Given the description of an element on the screen output the (x, y) to click on. 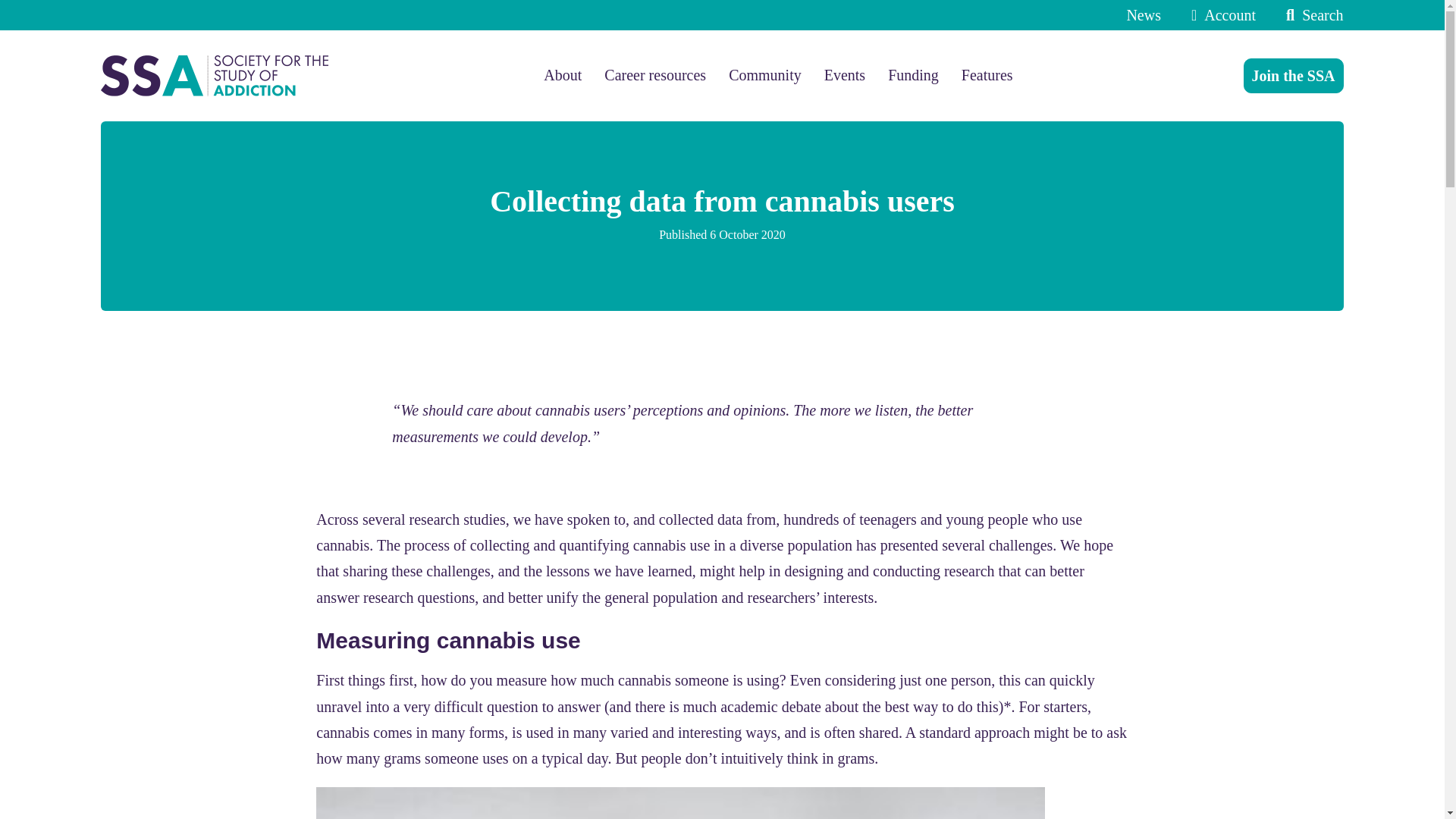
Account (1219, 14)
Search (1310, 14)
Career resources (655, 75)
Join the SSA (1293, 75)
Funding (913, 75)
Community (765, 75)
Features (986, 75)
About (561, 75)
News (1142, 14)
Events (844, 75)
